Given the description of an element on the screen output the (x, y) to click on. 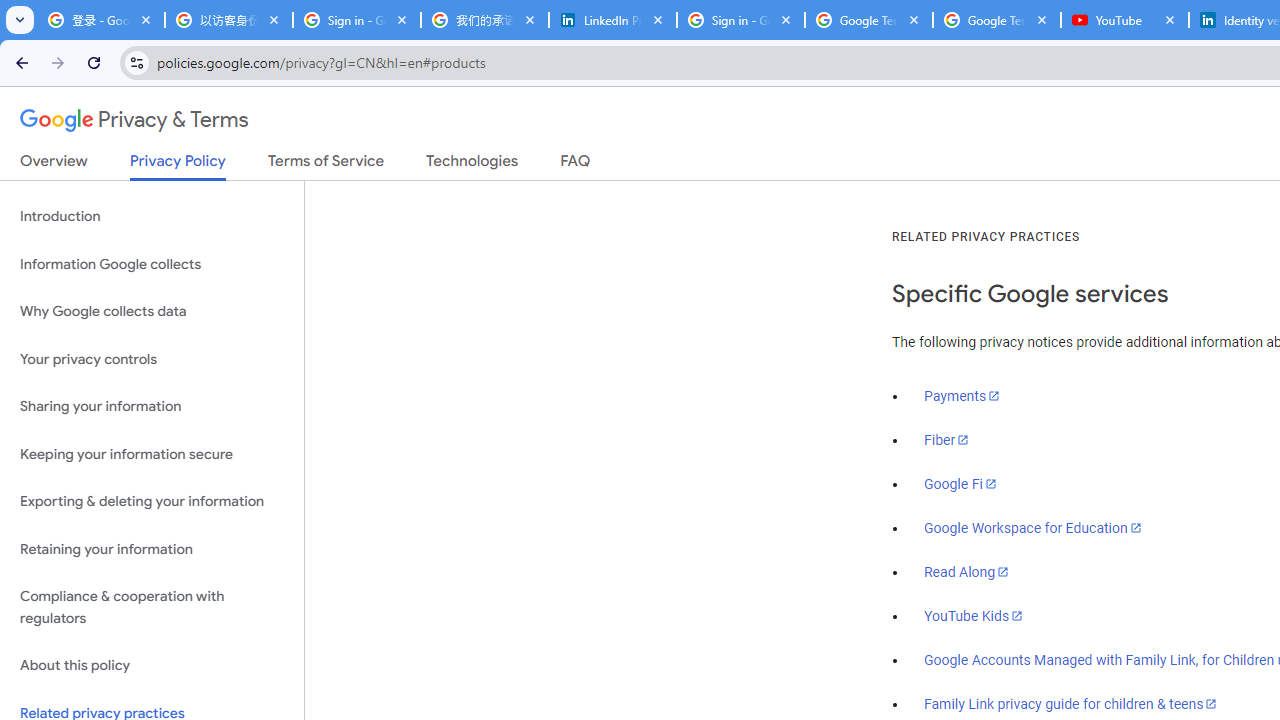
Technologies (472, 165)
Retaining your information (152, 548)
Exporting & deleting your information (152, 502)
YouTube (1125, 20)
Read Along (966, 572)
YouTube Kids (974, 615)
Why Google collects data (152, 312)
About this policy (152, 666)
Privacy & Terms (134, 120)
